Given the description of an element on the screen output the (x, y) to click on. 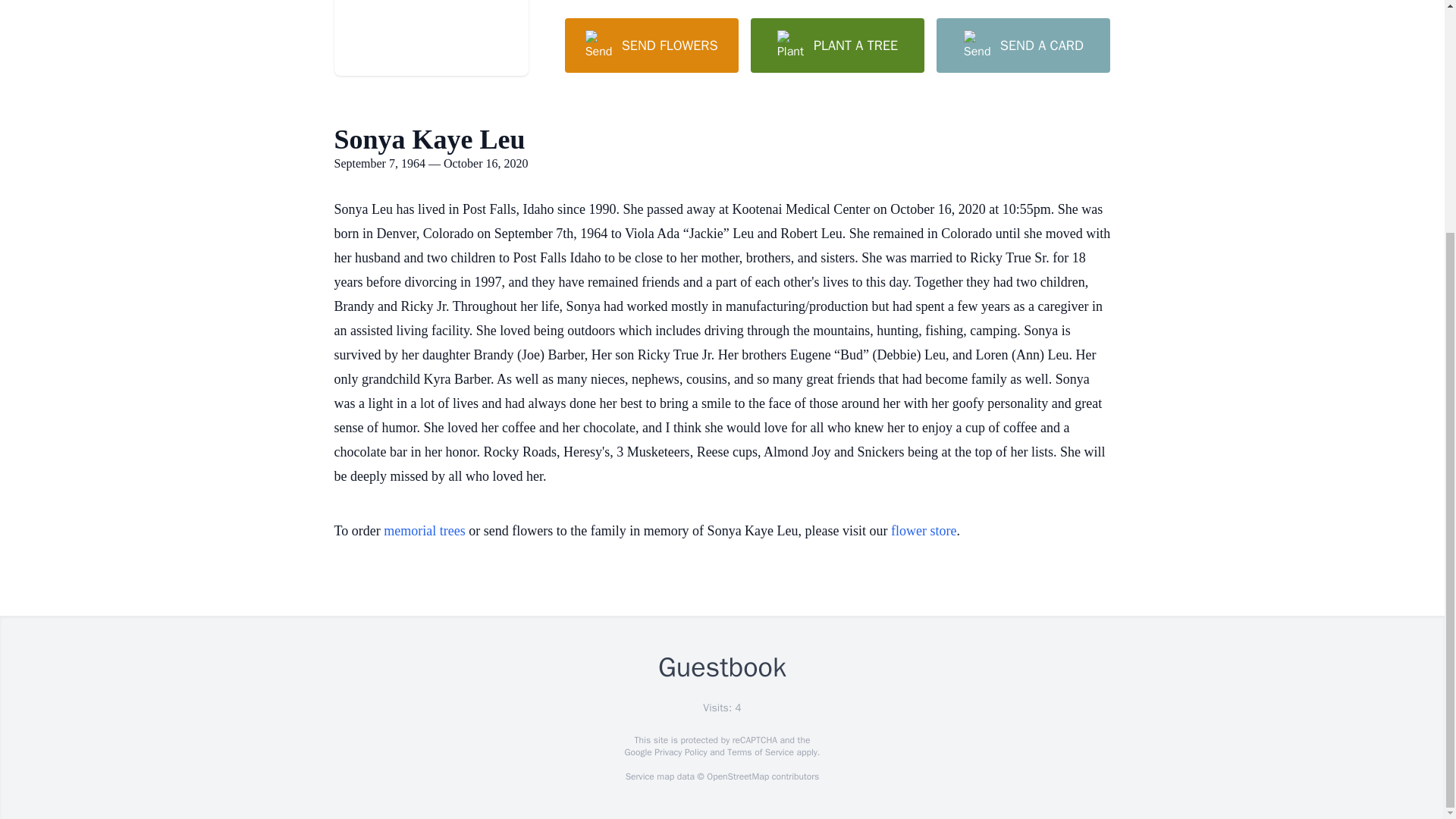
flower store (923, 530)
PLANT A TREE (837, 45)
memorial trees (424, 530)
OpenStreetMap (737, 776)
Privacy Policy (679, 752)
SEND A CARD (1022, 45)
SEND FLOWERS (651, 45)
Terms of Service (759, 752)
